Given the description of an element on the screen output the (x, y) to click on. 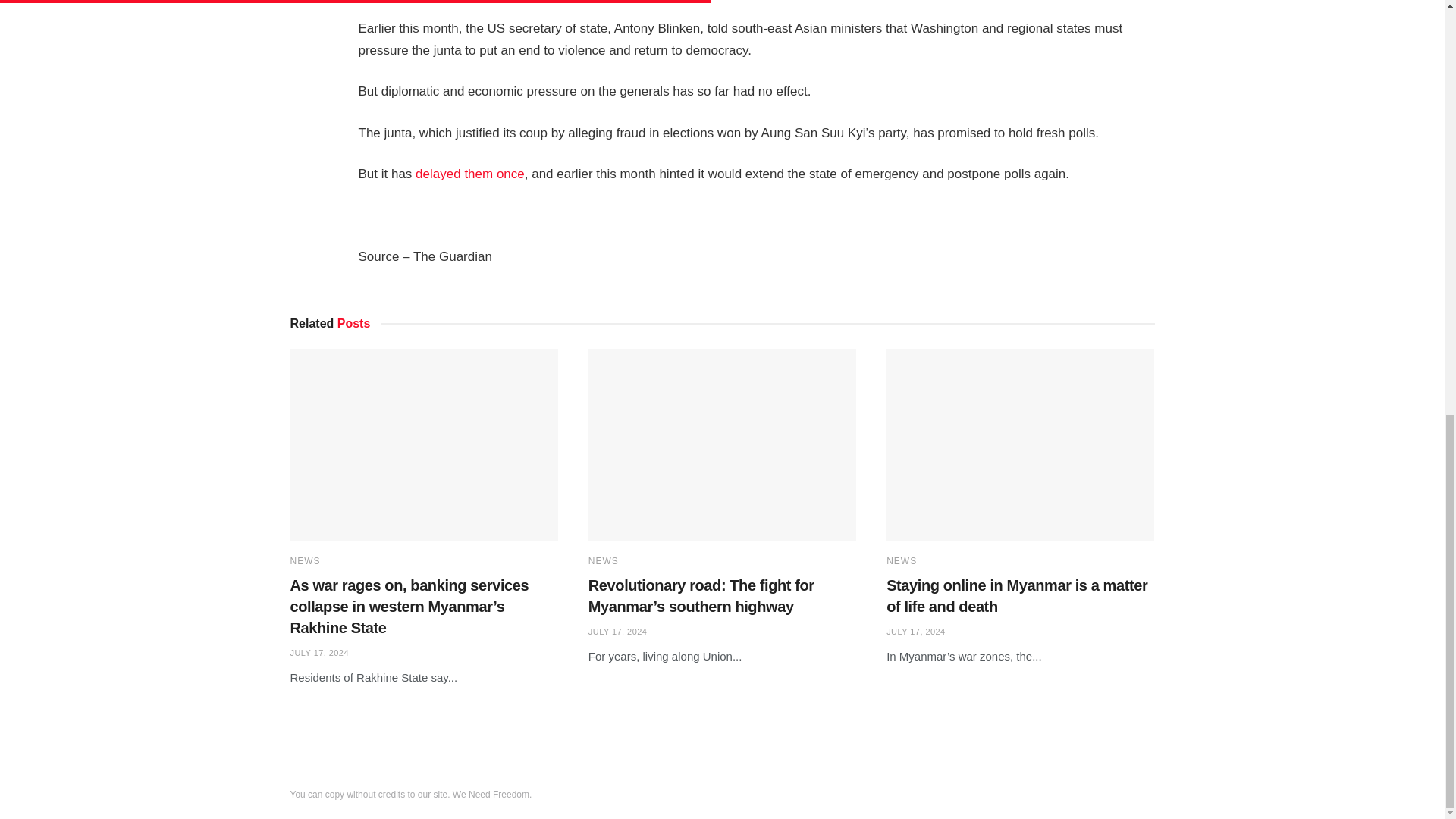
delayed them once (469, 173)
